Given the description of an element on the screen output the (x, y) to click on. 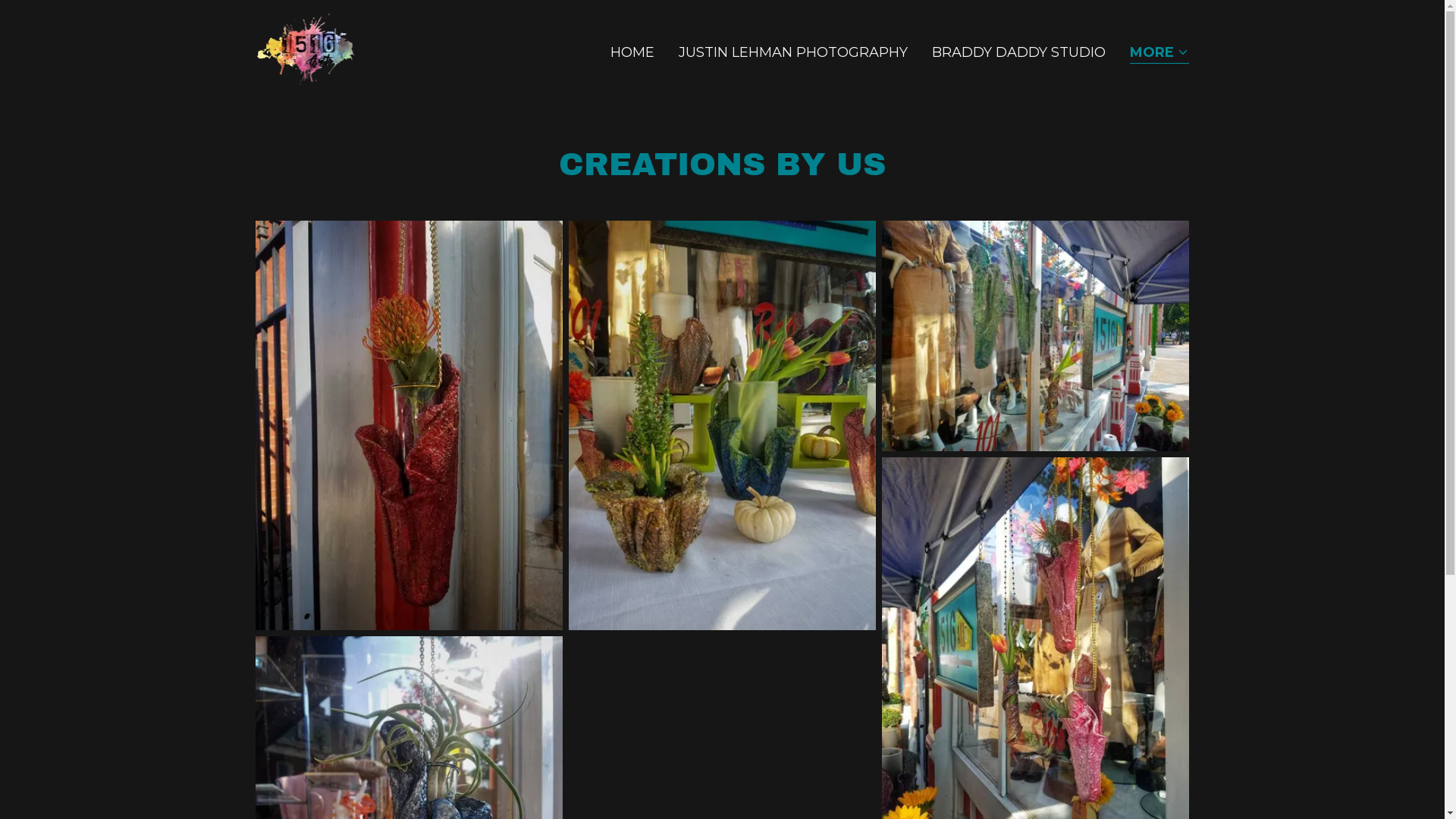
HOME Element type: text (631, 51)
BRADDY DADDY STUDIO Element type: text (1018, 51)
1516 ART Element type: hover (306, 48)
JUSTIN LEHMAN PHOTOGRAPHY Element type: text (793, 51)
MORE Element type: text (1159, 52)
